Given the description of an element on the screen output the (x, y) to click on. 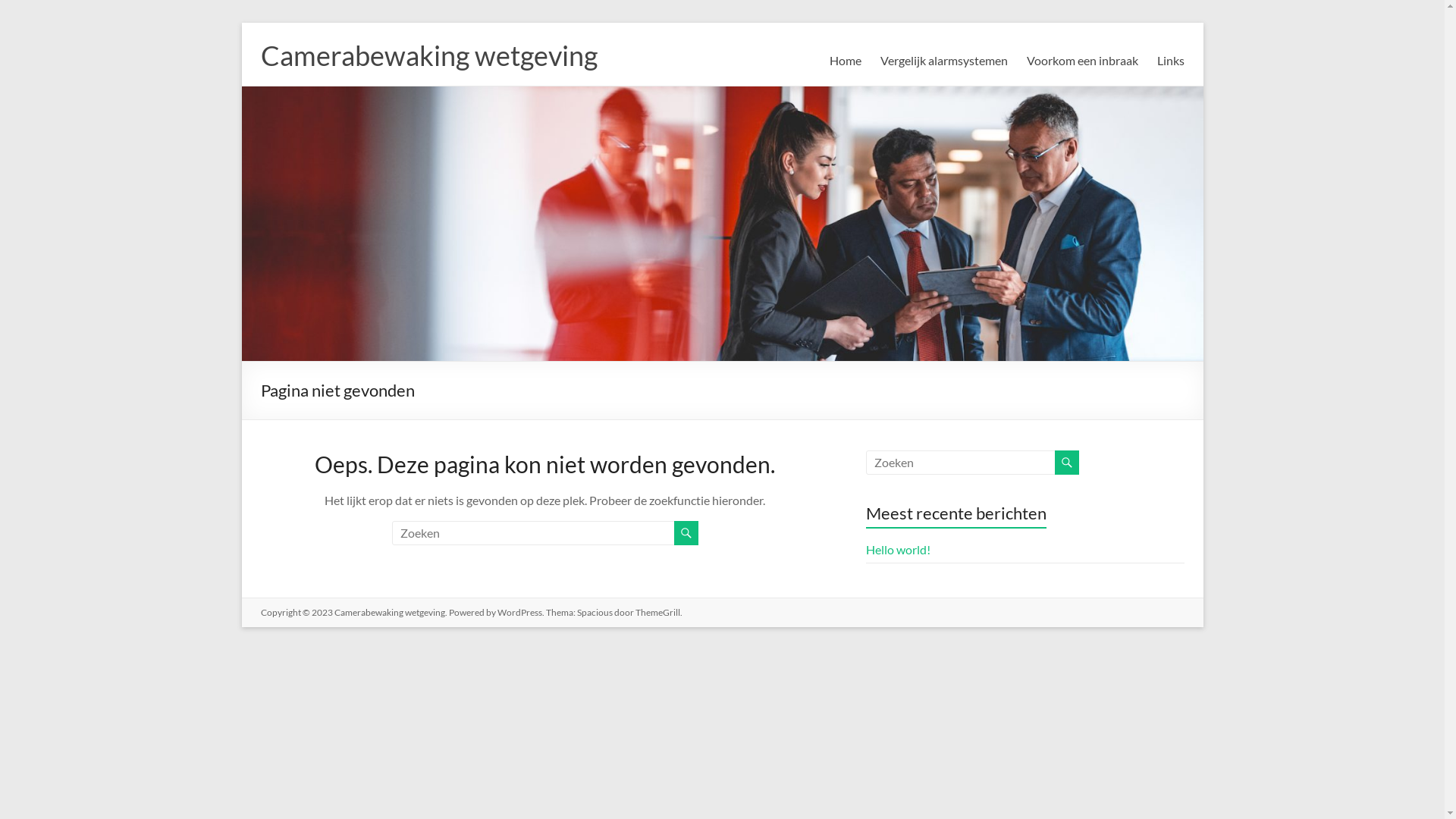
WordPress Element type: text (519, 612)
Links Element type: text (1170, 60)
Camerabewaking wetgeving Element type: text (388, 612)
Voorkom een inbraak Element type: text (1082, 60)
Vergelijk alarmsystemen Element type: text (943, 60)
ThemeGrill Element type: text (657, 612)
Hello world! Element type: text (898, 549)
Home Element type: text (845, 60)
Camerabewaking wetgeving Element type: text (428, 55)
Skip to content Element type: text (241, 21)
